Given the description of an element on the screen output the (x, y) to click on. 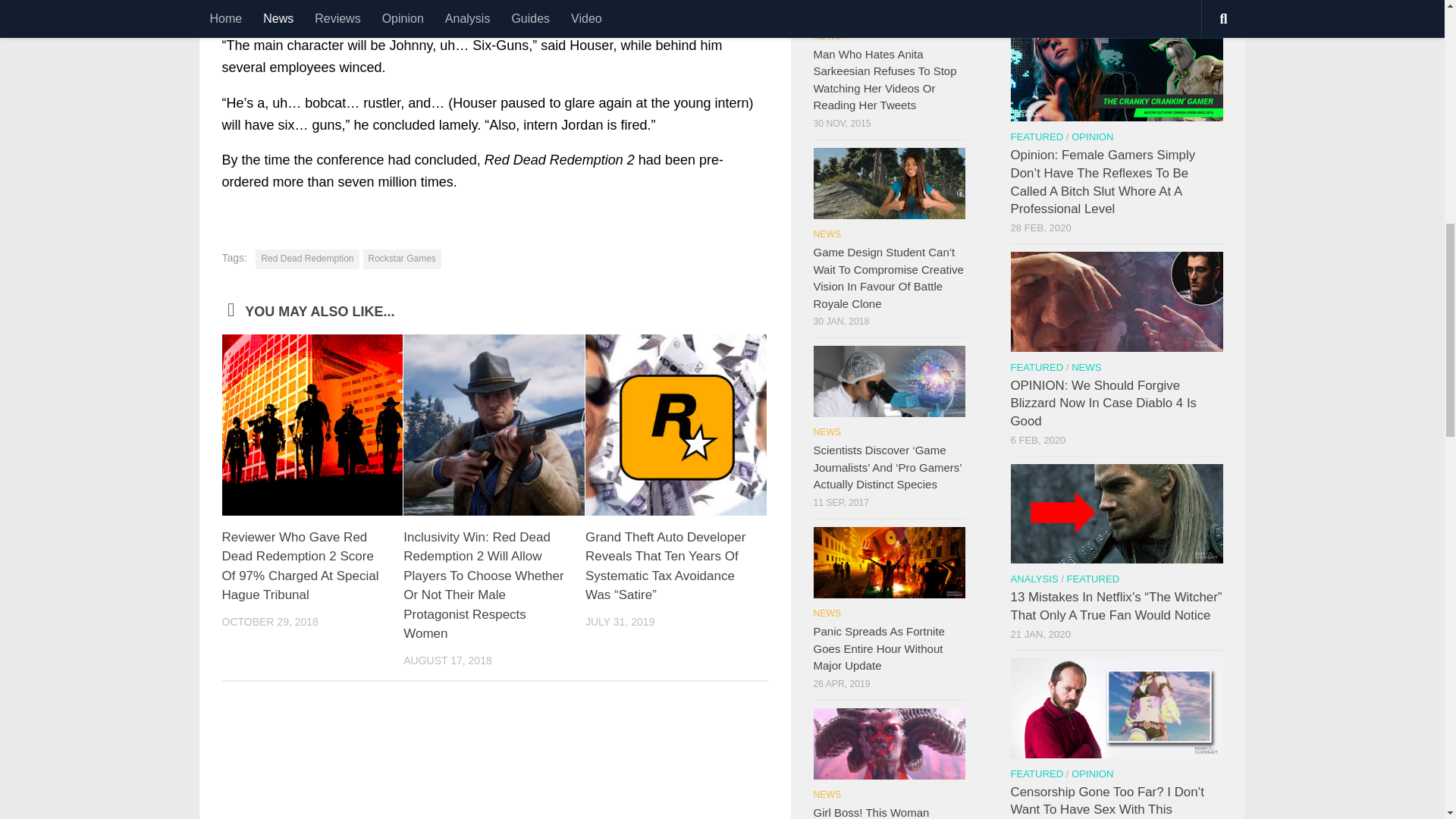
Red Dead Redemption (307, 259)
Rockstar Games (401, 259)
